Given the description of an element on the screen output the (x, y) to click on. 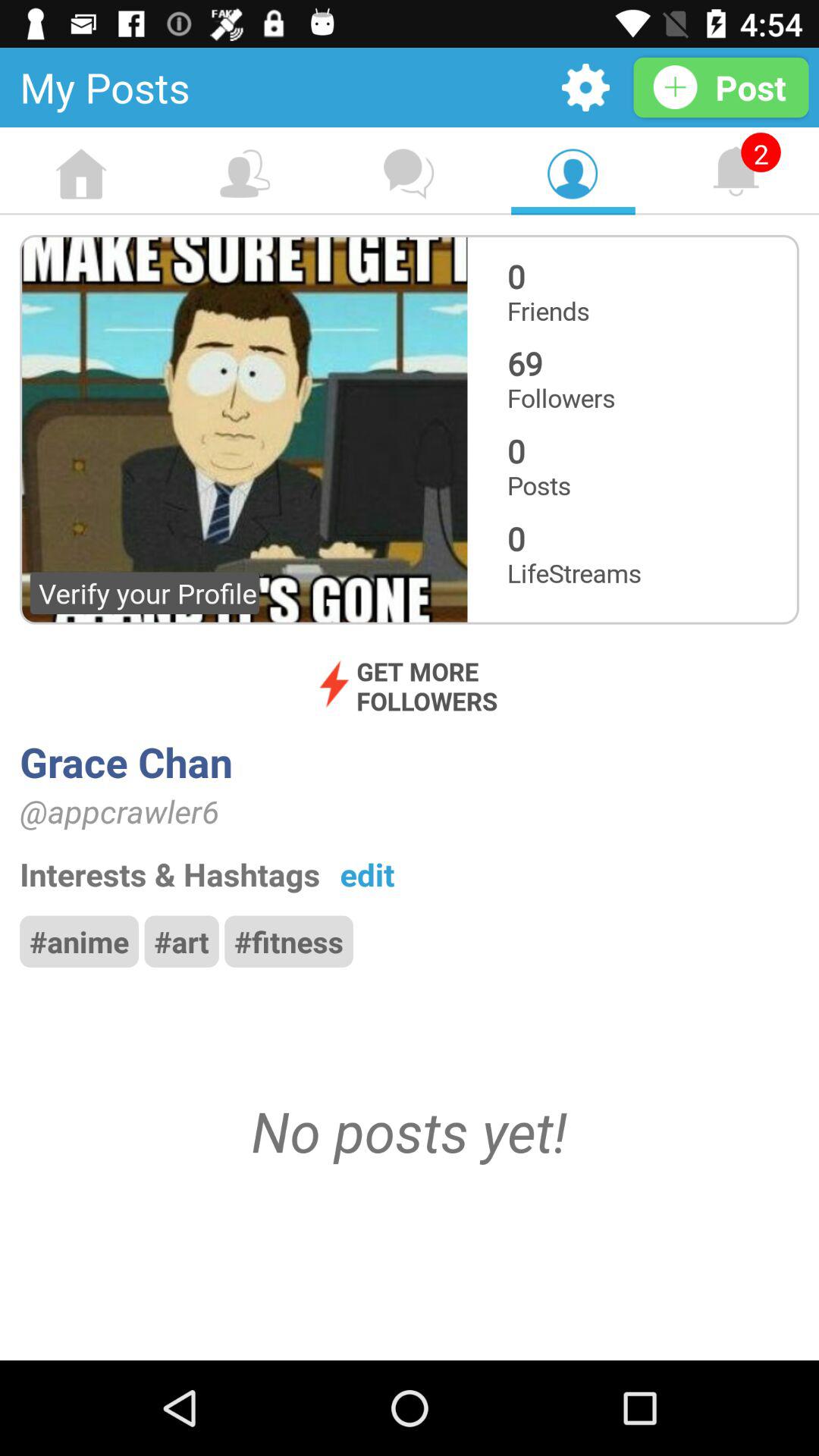
tap the item to the right of #anime item (181, 941)
